Given the description of an element on the screen output the (x, y) to click on. 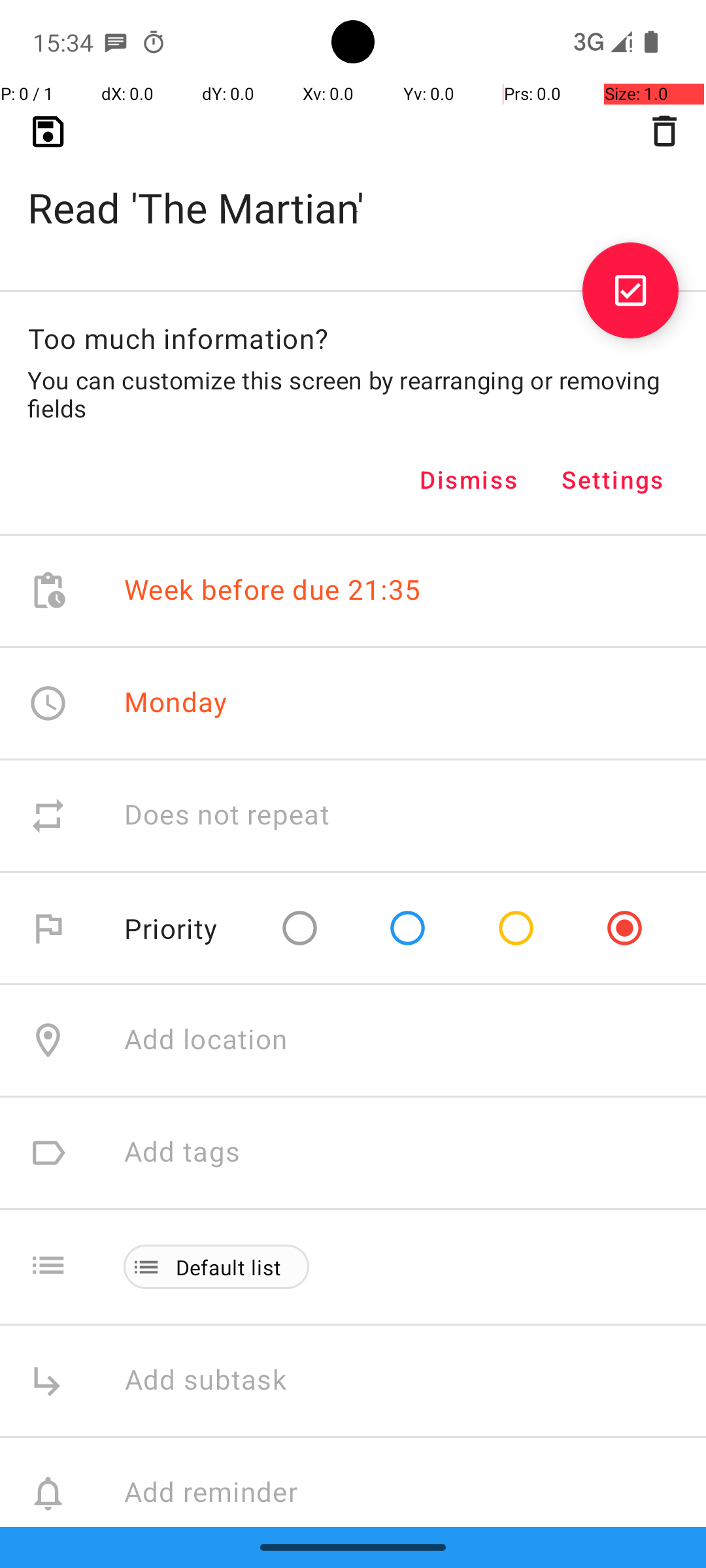
Week before due 21:35 Element type: android.widget.TextView (272, 590)
